Given the description of an element on the screen output the (x, y) to click on. 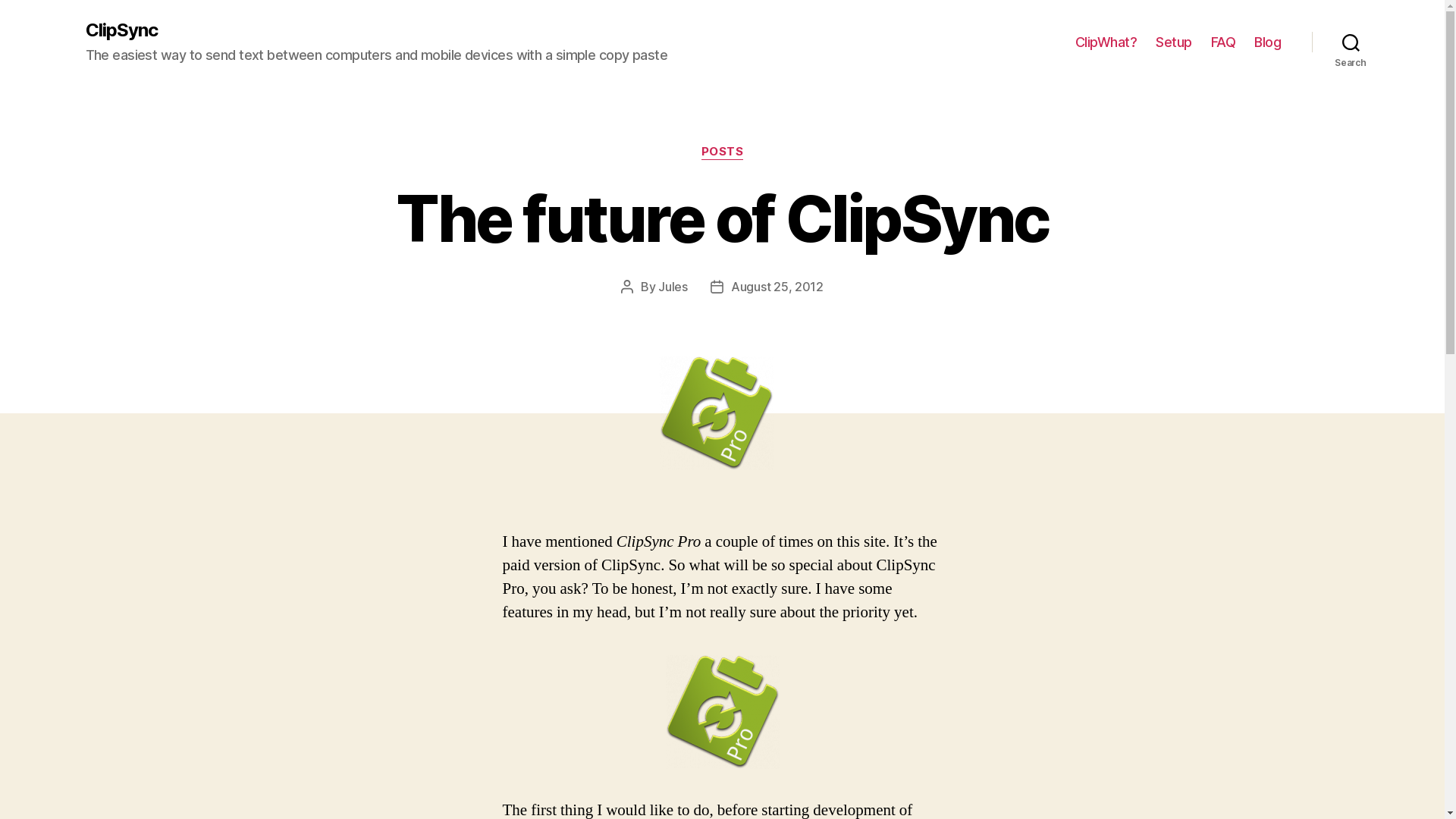
August 25, 2012 Element type: text (777, 286)
Search Element type: text (1350, 42)
ClipSync Element type: text (120, 30)
FAQ Element type: text (1223, 42)
Jules Element type: text (672, 286)
ClipWhat? Element type: text (1106, 42)
clipsync-pro Element type: hover (722, 711)
Blog Element type: text (1267, 42)
POSTS Element type: text (722, 152)
Setup Element type: text (1173, 42)
